Given the description of an element on the screen output the (x, y) to click on. 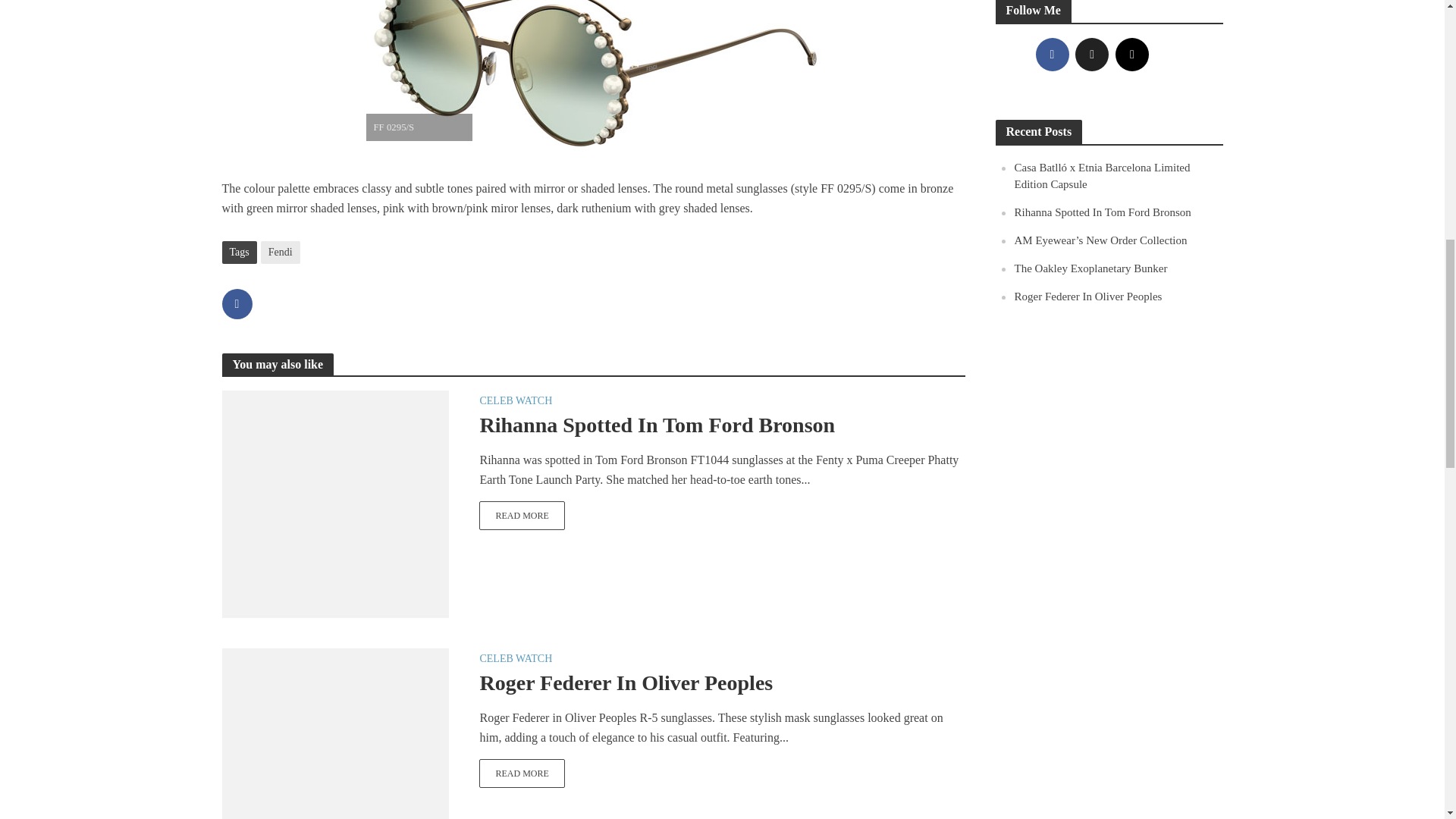
Roger Federer In Oliver Peoples (334, 760)
Instagram (1131, 54)
Facebook (1051, 54)
Roger Federer In Oliver Peoples (521, 773)
Rihanna Spotted In Tom Ford Bronson (334, 502)
Rihanna Spotted In Tom Ford Bronson (521, 515)
